Given the description of an element on the screen output the (x, y) to click on. 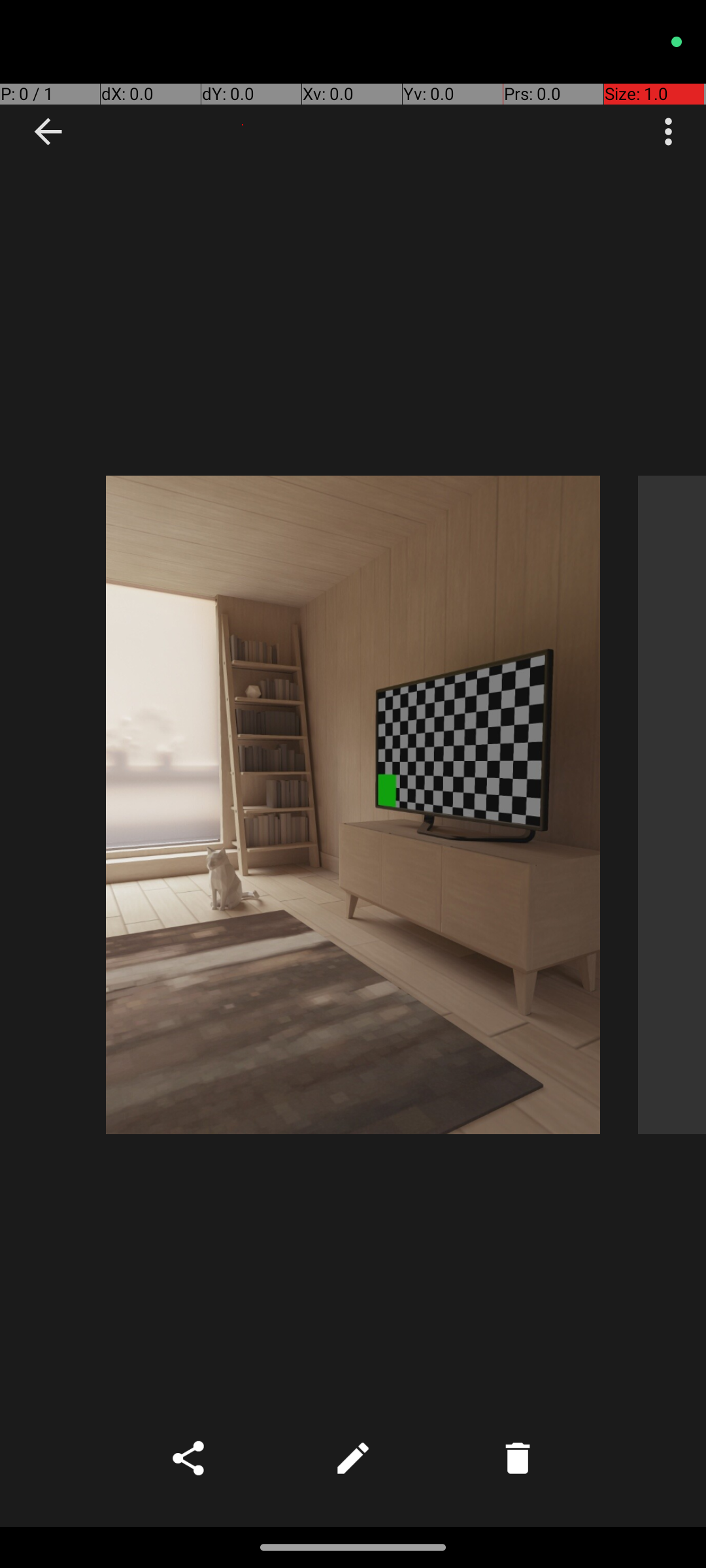
Photo taken on Oct 15, 2023 15:34:17 Element type: android.widget.ImageView (352, 804)
Photo taken on Oct 15, 2023 15:34:14 Element type: android.widget.ImageView (672, 804)
